Given the description of an element on the screen output the (x, y) to click on. 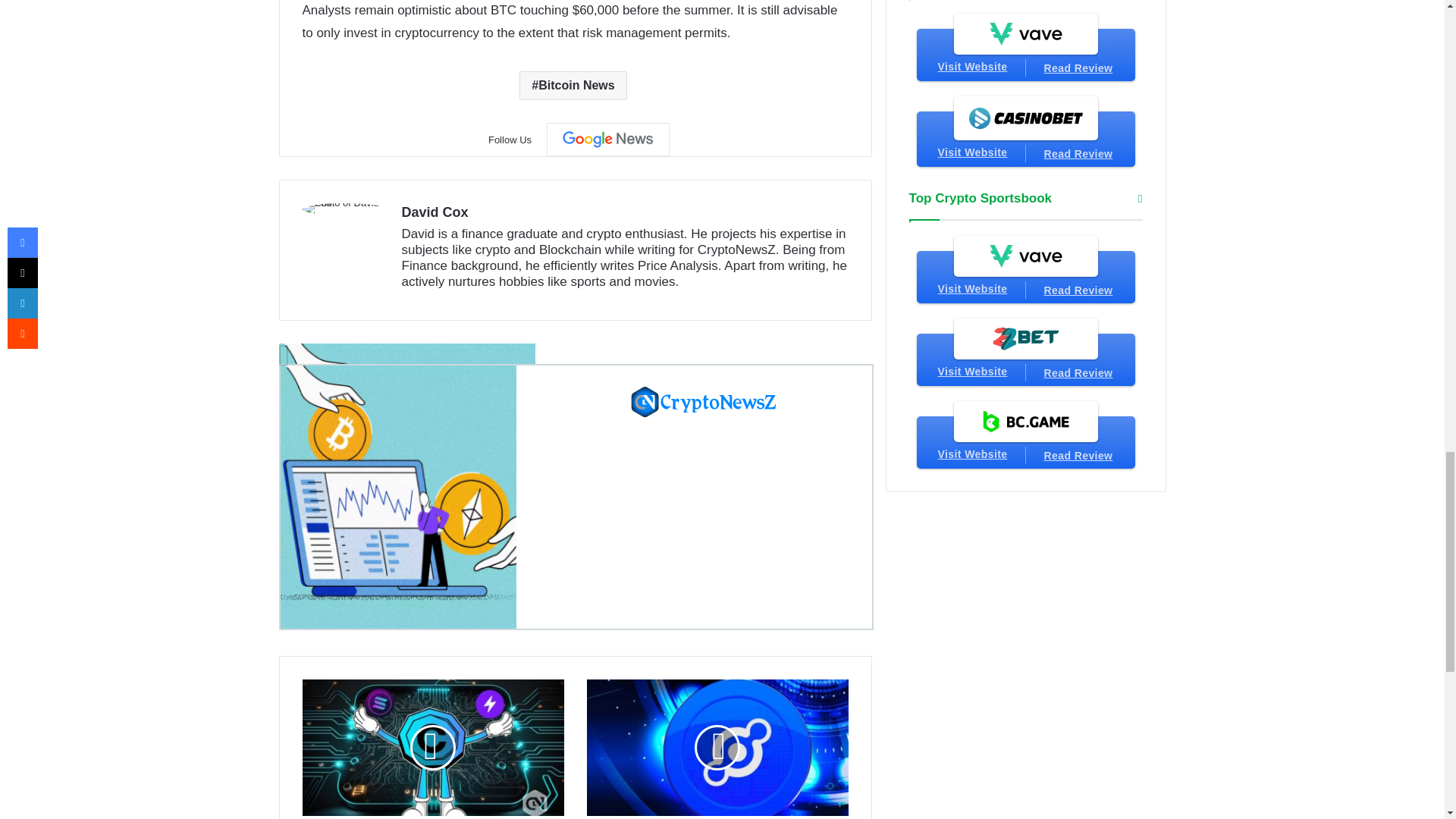
Google News (608, 139)
